Given the description of an element on the screen output the (x, y) to click on. 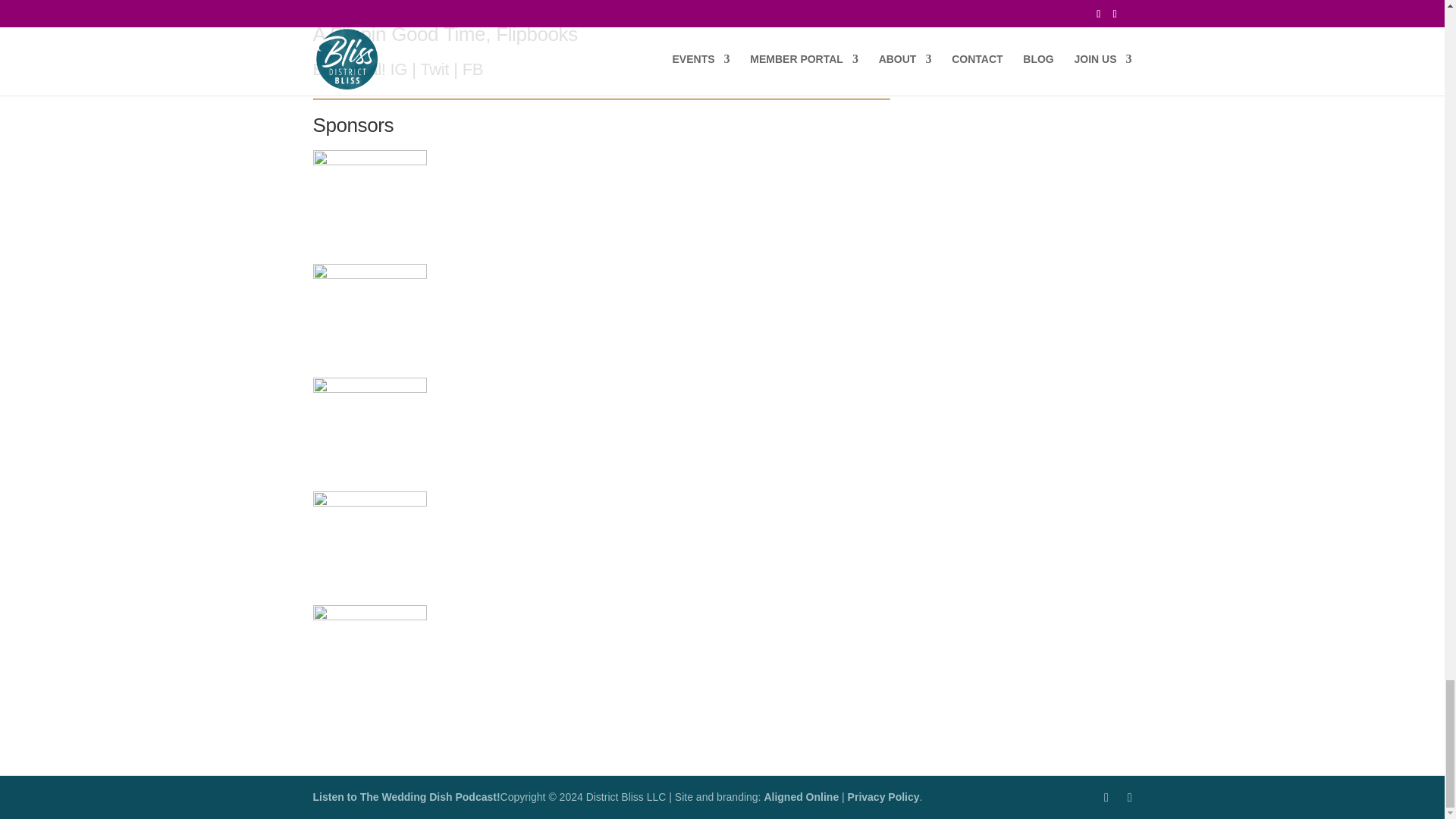
FB (473, 68)
A Flippin Good Time (398, 33)
Twit (434, 68)
IG (398, 68)
